Given the description of an element on the screen output the (x, y) to click on. 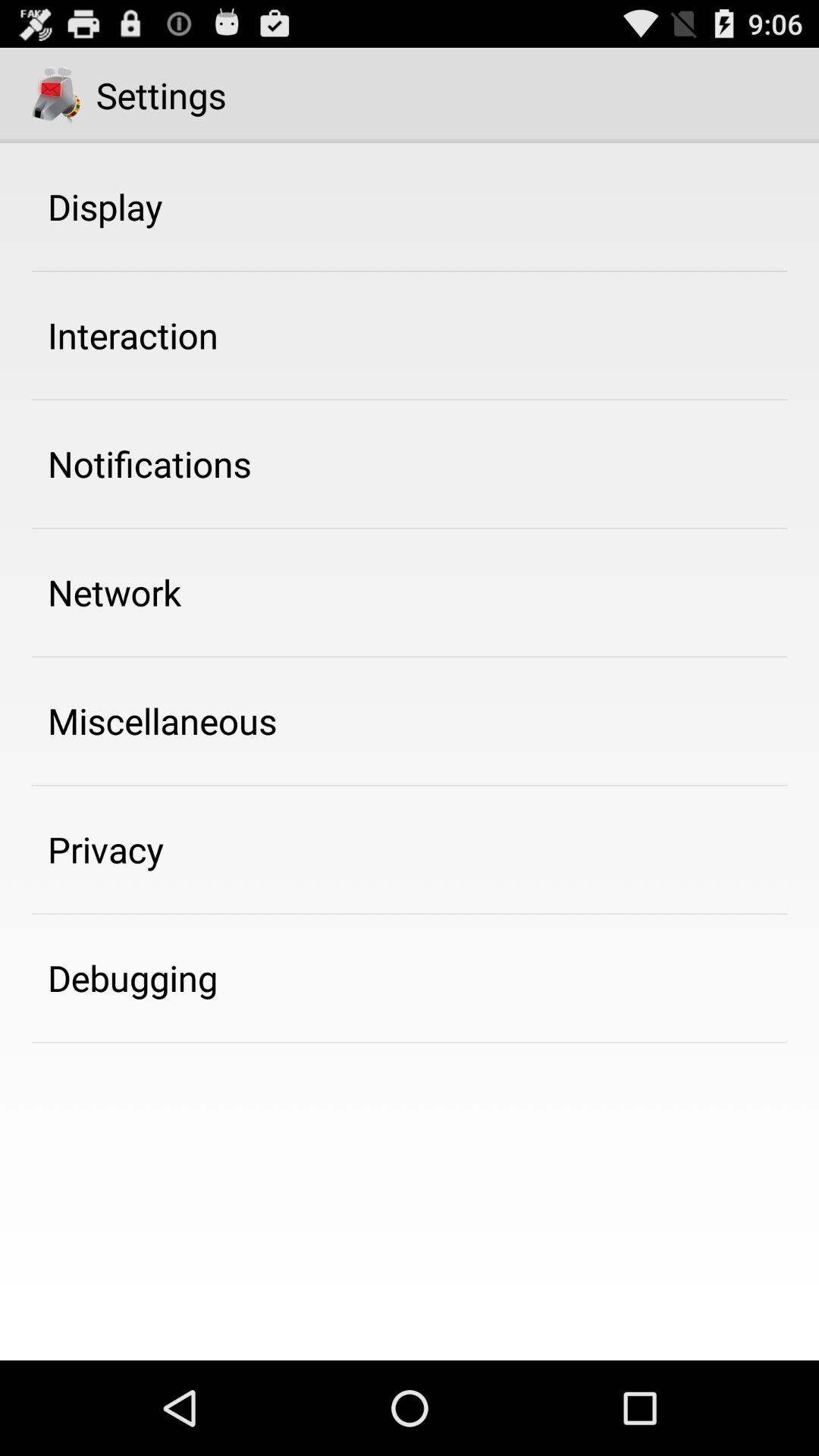
turn on the icon below privacy app (132, 977)
